Given the description of an element on the screen output the (x, y) to click on. 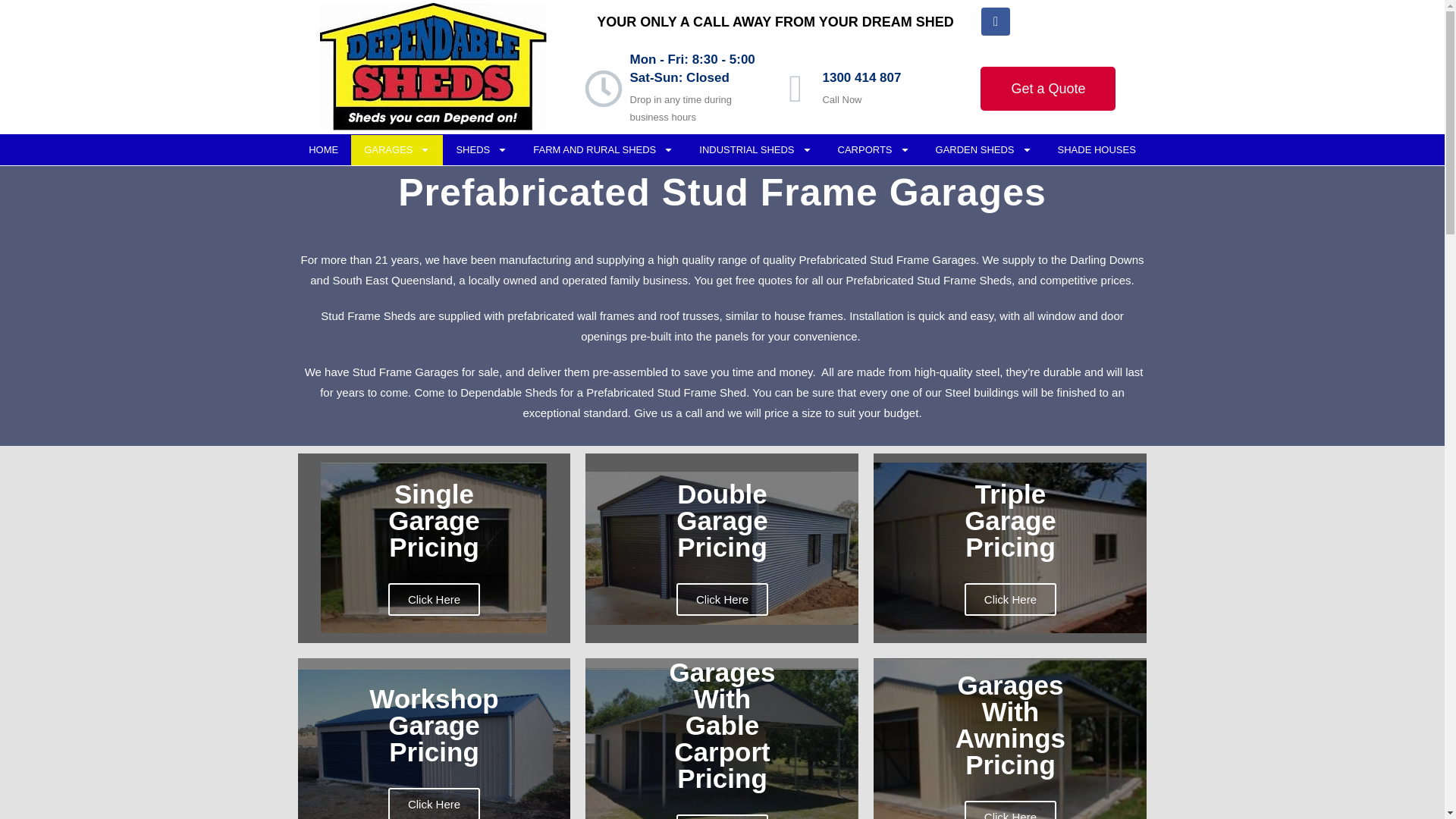
INDUSTRIAL SHEDS (754, 150)
CARPORTS (874, 150)
FARM AND RURAL SHEDS (602, 150)
SHEDS (480, 150)
1300 414 807 (861, 77)
GARAGES (396, 150)
GARDEN SHEDS (984, 150)
HOME (322, 150)
Get a Quote (1047, 88)
